Given the description of an element on the screen output the (x, y) to click on. 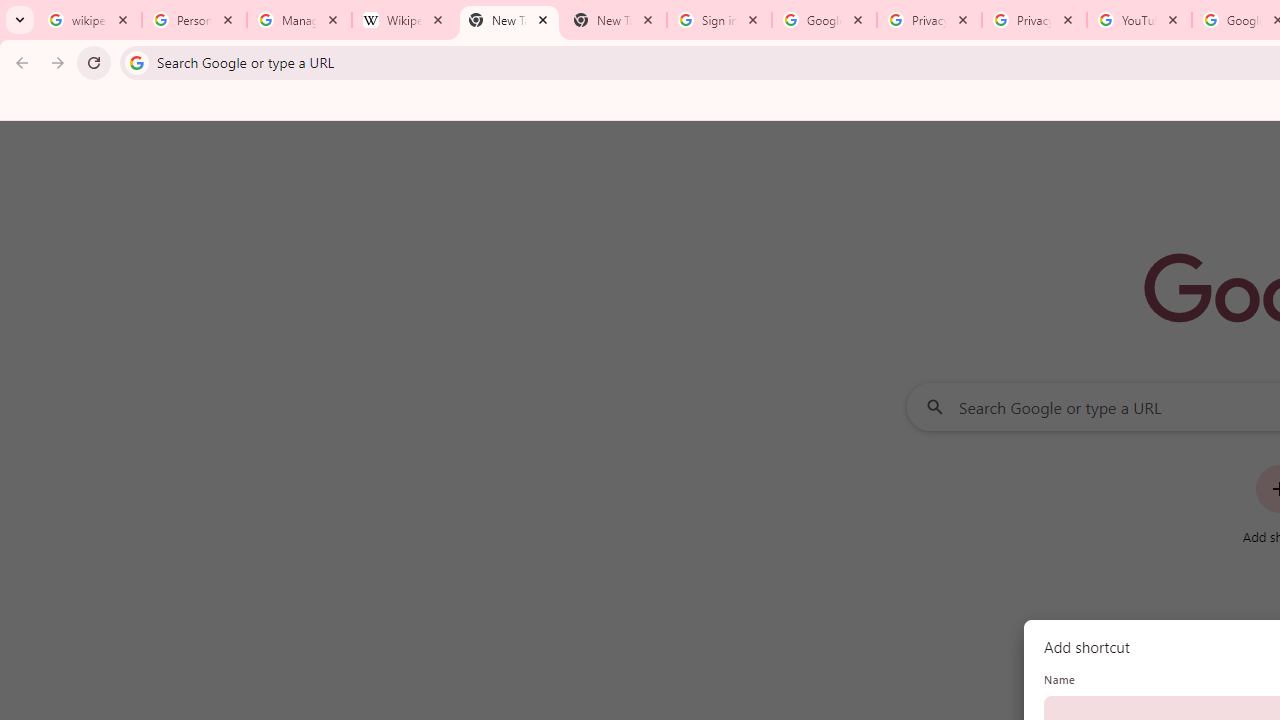
Sign in - Google Accounts (718, 20)
Manage your Location History - Google Search Help (299, 20)
Personalization & Google Search results - Google Search Help (194, 20)
New Tab (509, 20)
